Given the description of an element on the screen output the (x, y) to click on. 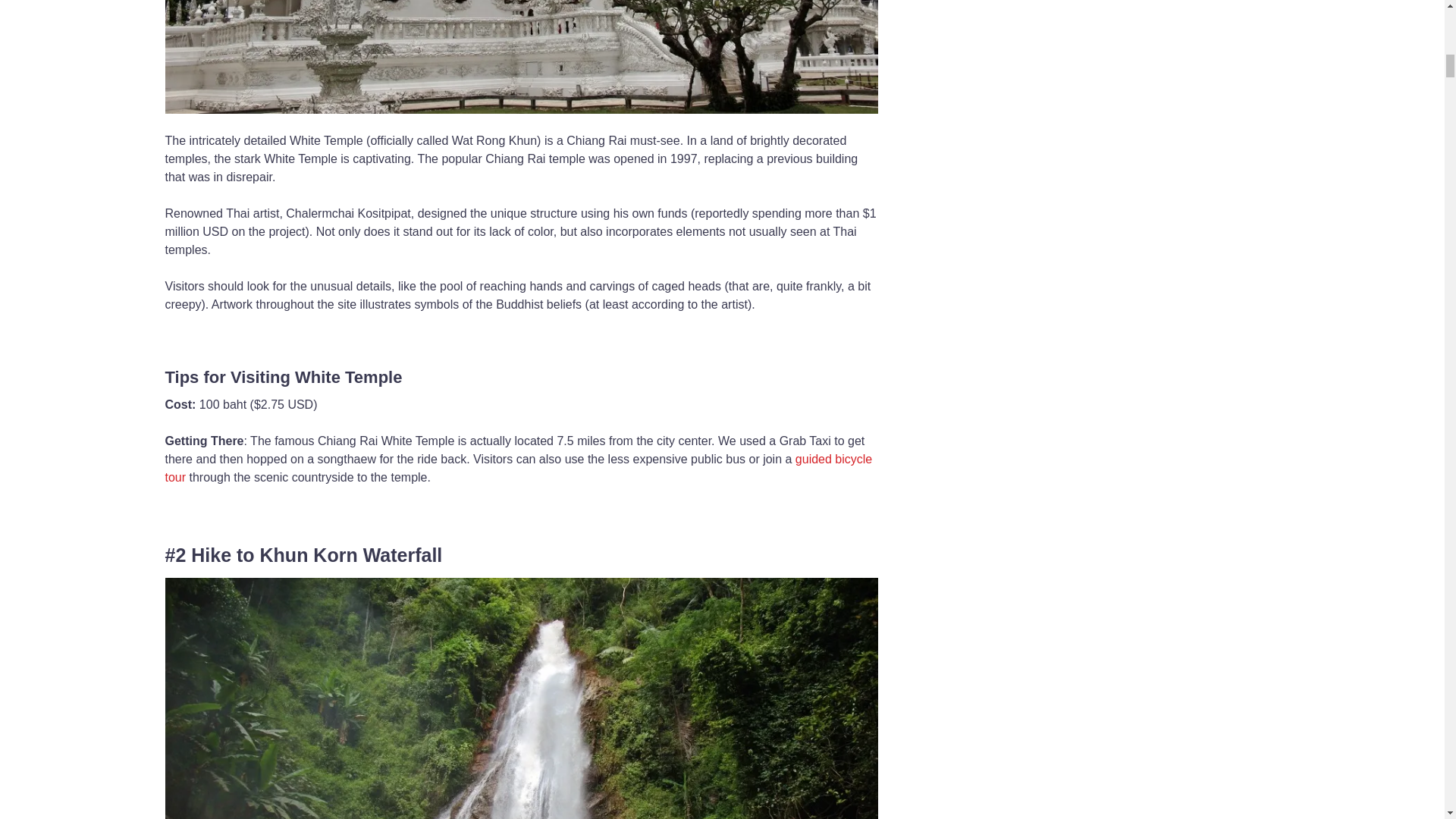
guided bicycle tour (518, 468)
